Given the description of an element on the screen output the (x, y) to click on. 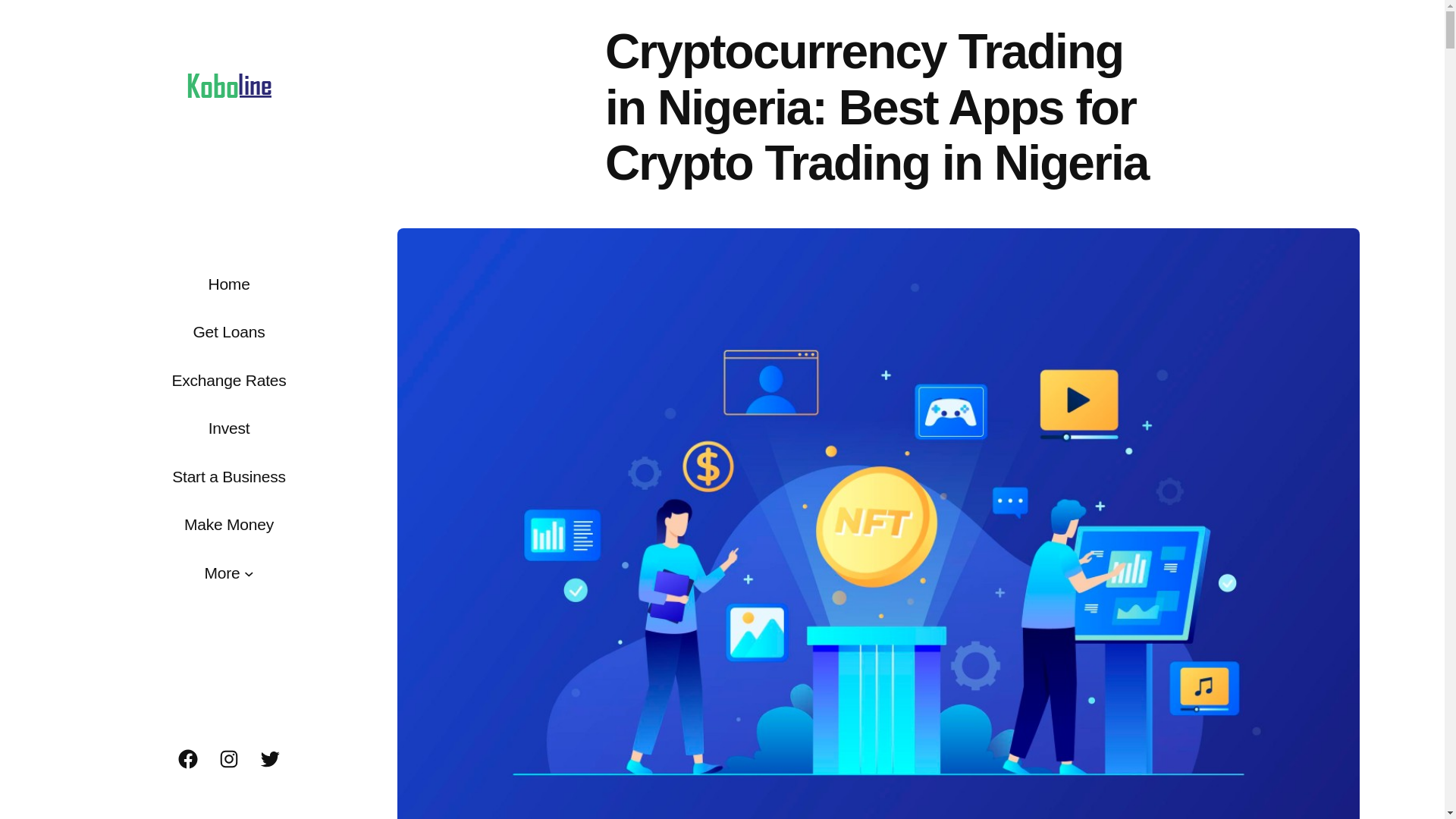
More (222, 573)
Home (228, 283)
Invest (229, 428)
Exchange Rates (228, 380)
Get Loans (228, 331)
Twitter (270, 758)
Make Money (228, 524)
Instagram (228, 758)
Start a Business (228, 476)
Facebook (187, 758)
